Given the description of an element on the screen output the (x, y) to click on. 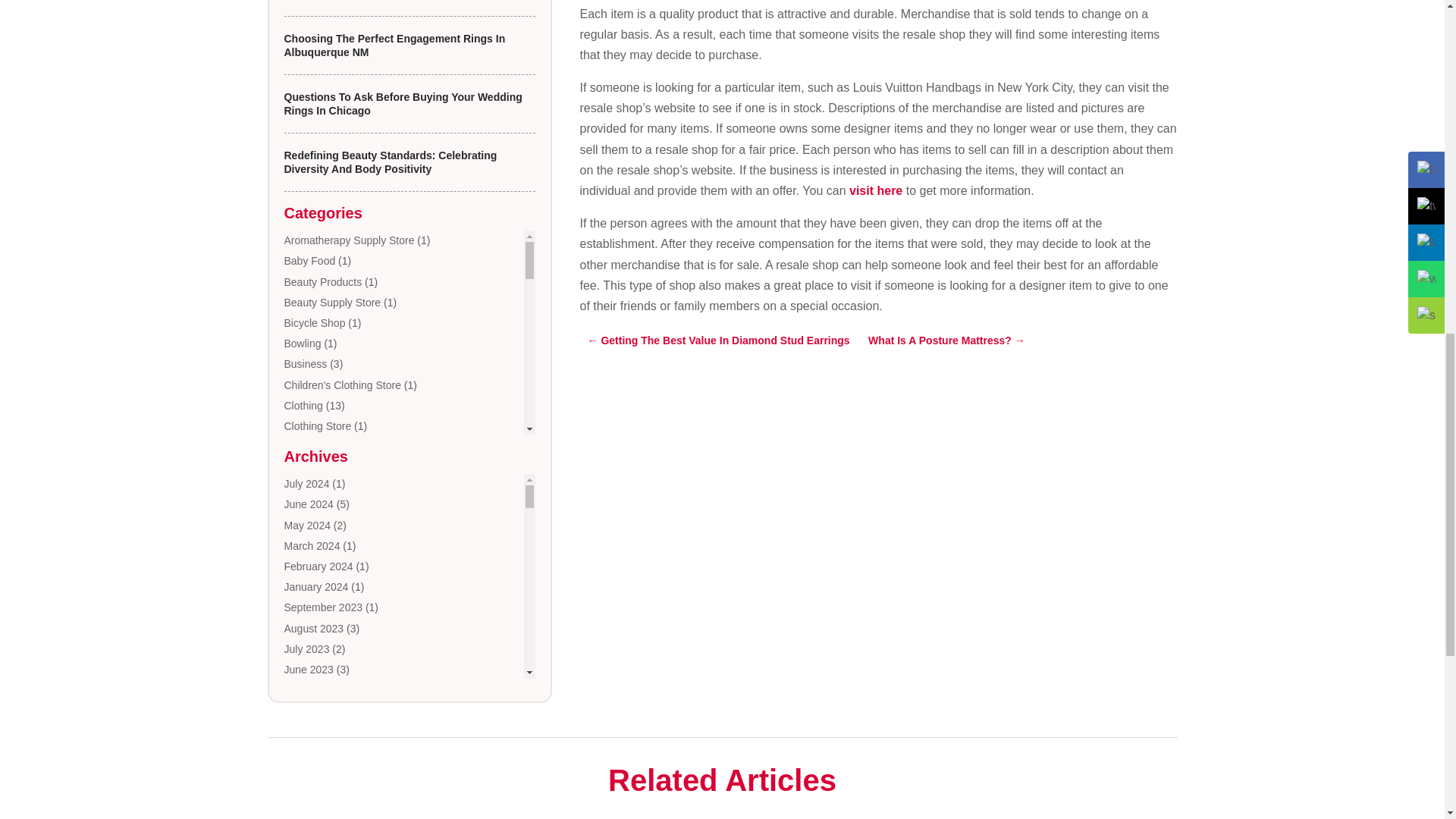
Electronics (308, 549)
Cosmetics Store (322, 487)
Aromatherapy Supply Store (348, 240)
Exercise Equipment Store (344, 570)
Custom Jewelry (321, 508)
Business (304, 363)
Children'S Clothing Store (341, 385)
Baby Food (308, 260)
Clothing (302, 405)
Bicycle Shop (314, 322)
Clothing Store (316, 426)
Beauty Products (322, 282)
Coffee And Tea (319, 446)
Questions To Ask Before Buying Your Wedding Rings In Chicago (402, 103)
